Given the description of an element on the screen output the (x, y) to click on. 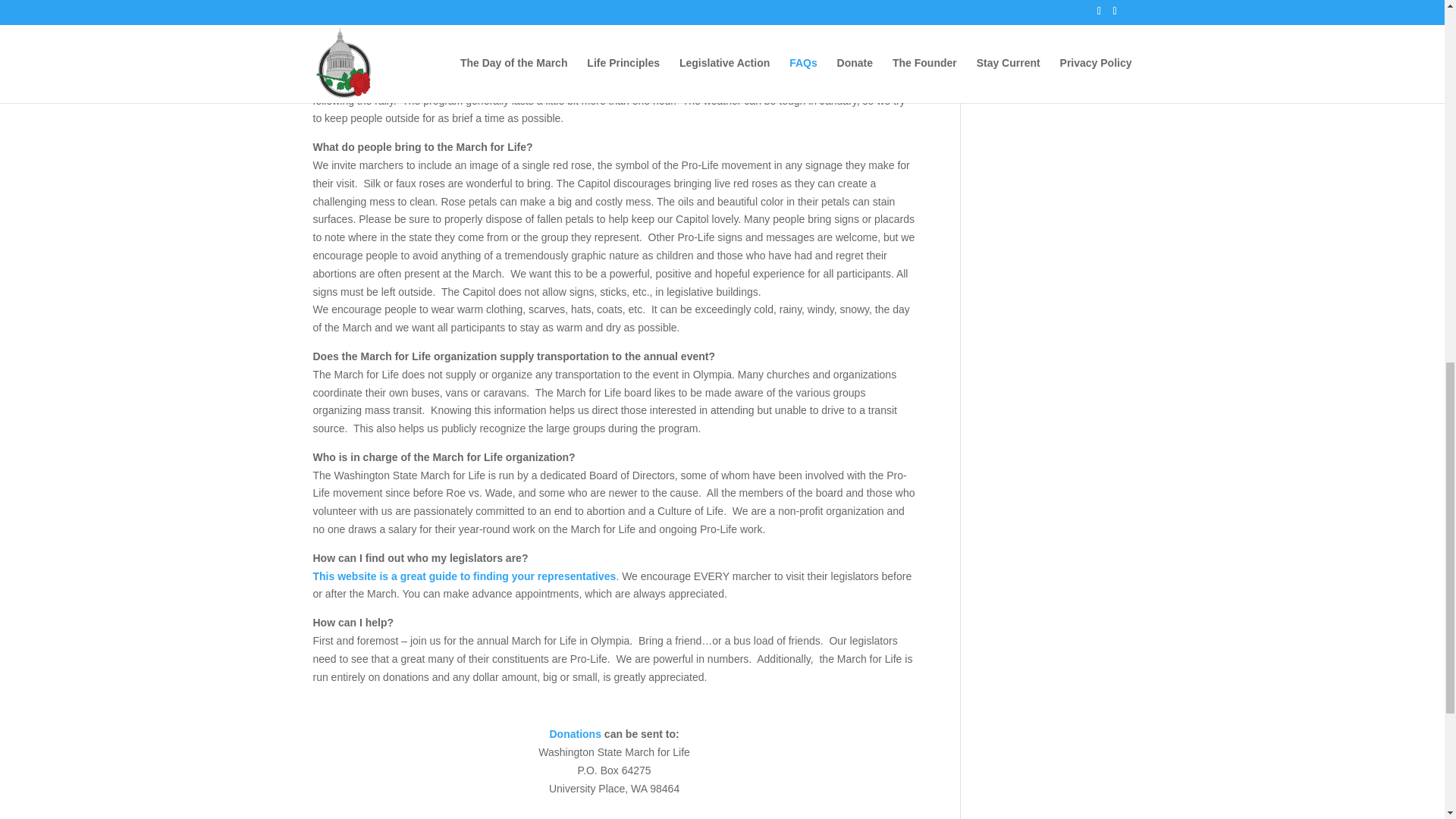
Donations (573, 734)
